Given the description of an element on the screen output the (x, y) to click on. 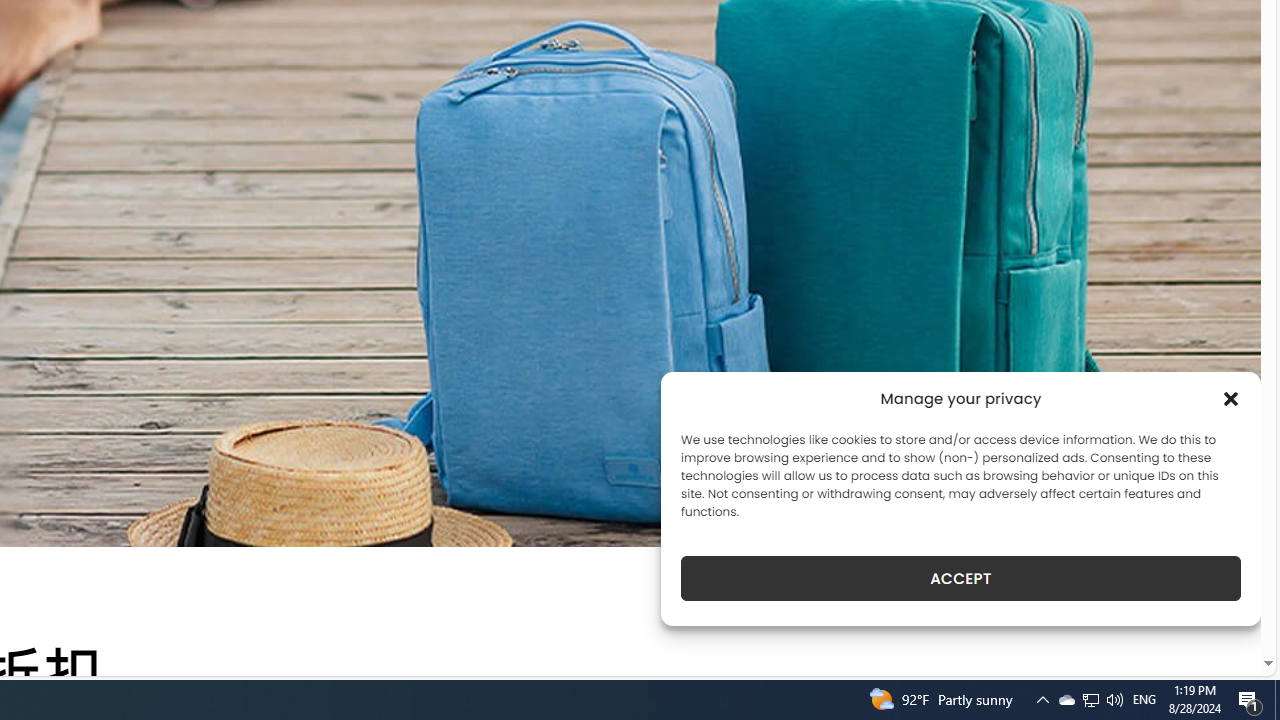
ACCEPT (960, 578)
Class: cmplz-close (1231, 398)
